Given the description of an element on the screen output the (x, y) to click on. 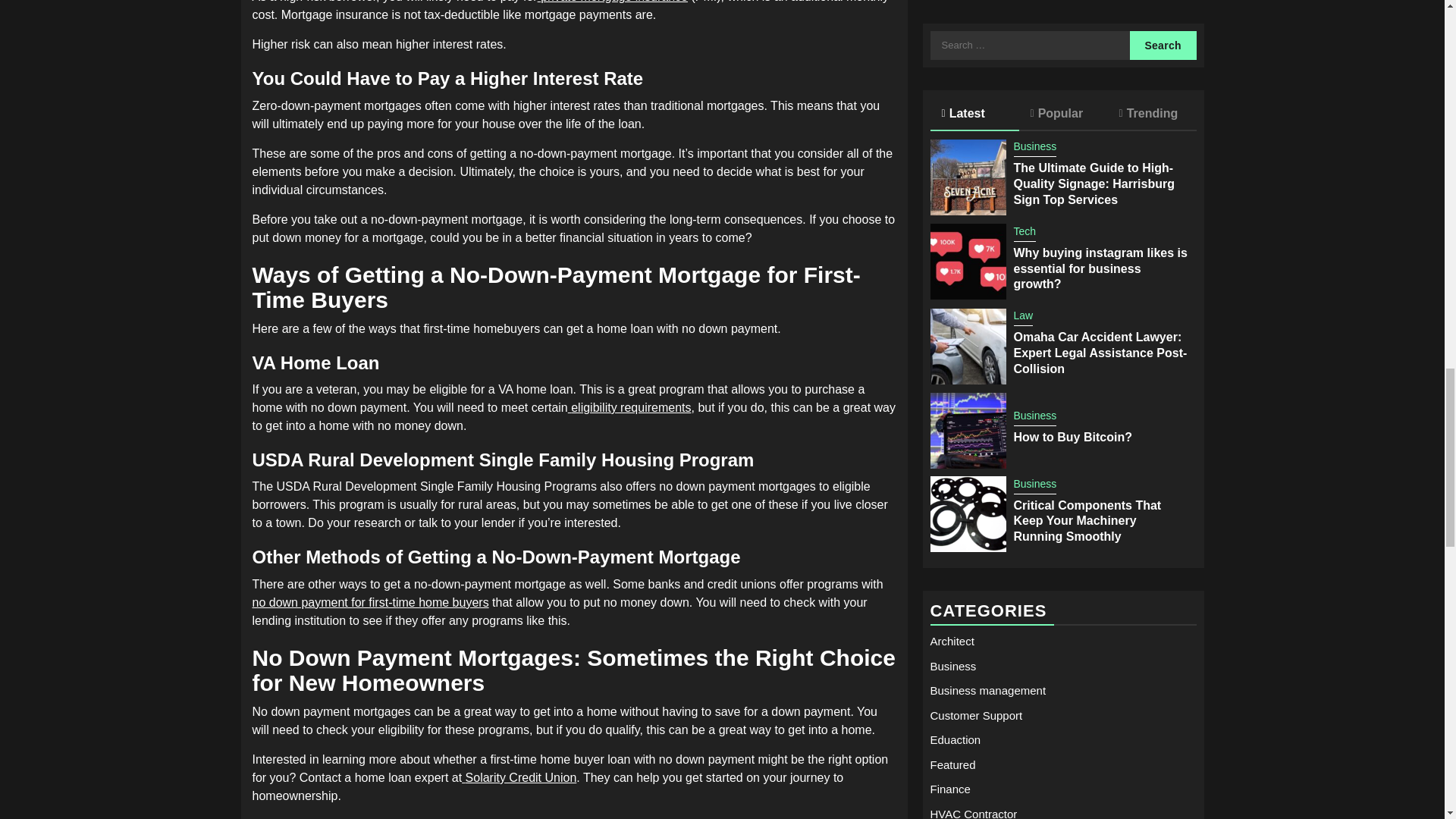
private mortgage insurance (612, 1)
no down payment for first-time home buyers (369, 602)
eligibility requirements (629, 407)
Solarity Credit Union (518, 777)
